Given the description of an element on the screen output the (x, y) to click on. 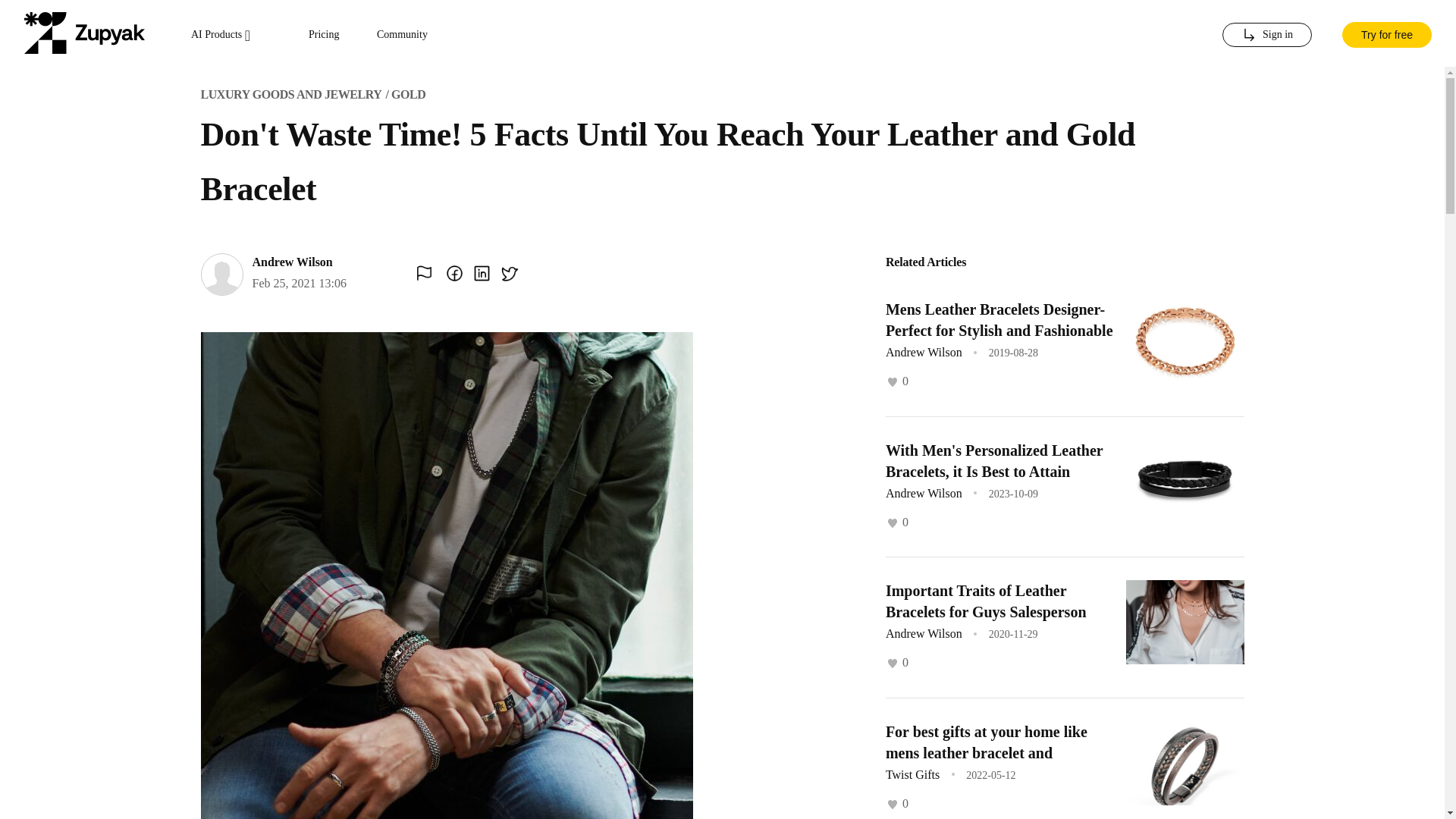
LUXURY GOODS AND JEWELRY (290, 93)
GOLD (408, 93)
 Sign in (1267, 34)
Important Traits of Leather Bracelets for Guys Salesperson (985, 600)
Community (402, 34)
Pricing (323, 34)
Try for free (1386, 33)
